Given the description of an element on the screen output the (x, y) to click on. 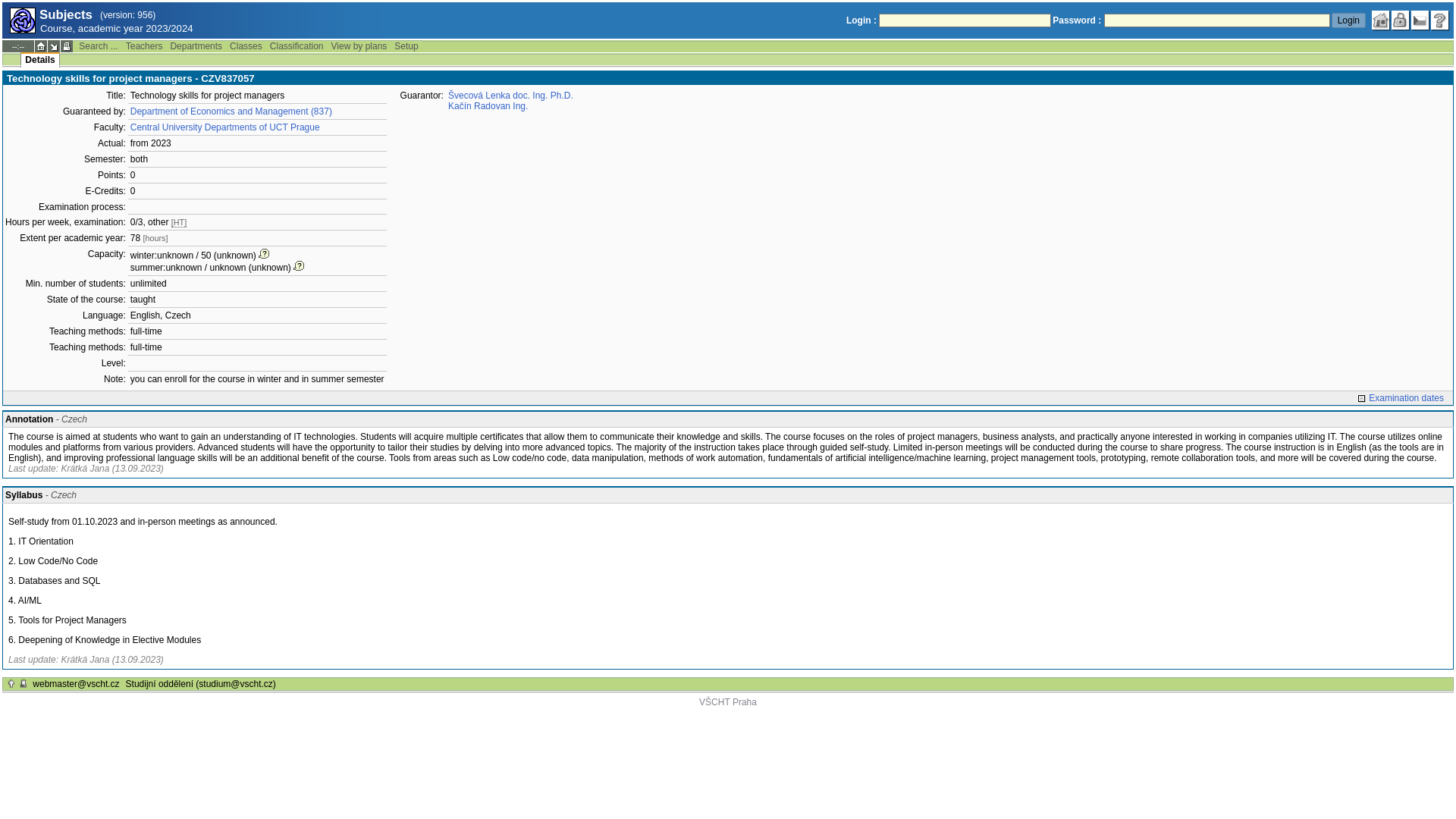
Login (1348, 20)
Teachers (144, 46)
Classes (245, 46)
View by plans (359, 46)
main page (1380, 20)
Classification (296, 46)
help (1439, 20)
Examination dates (1400, 398)
main page (40, 46)
switch to czech (1419, 20)
Setup (406, 46)
Central University Departments of UCT Prague (225, 127)
Login (1348, 20)
Subjects (22, 20)
Search ... (97, 46)
